Given the description of an element on the screen output the (x, y) to click on. 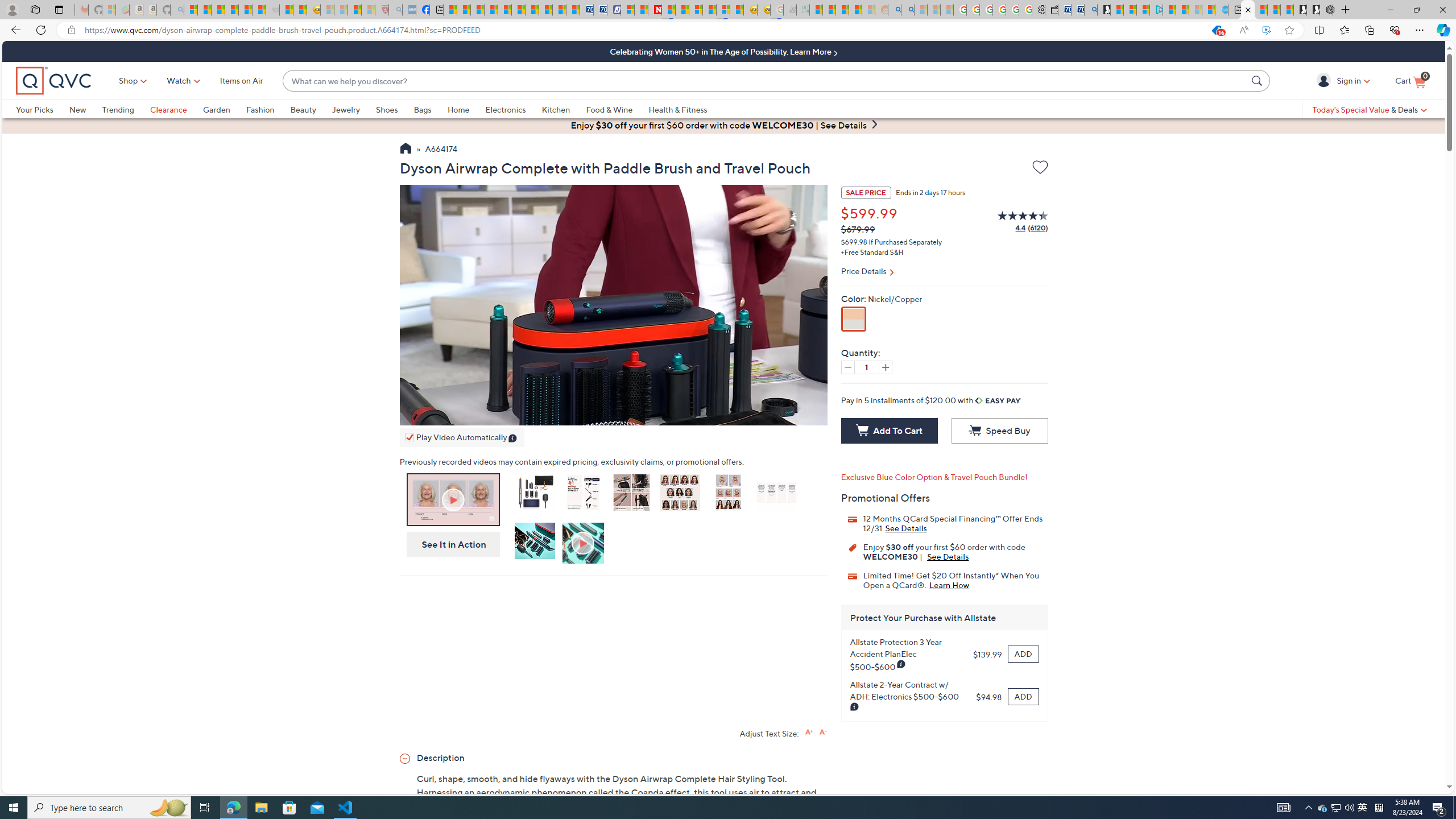
Cheap Car Rentals - Save70.com (1077, 9)
Captions (743, 413)
Health & Fitness (680, 109)
Add to Wish List (1040, 168)
Watch (178, 80)
